Given the description of an element on the screen output the (x, y) to click on. 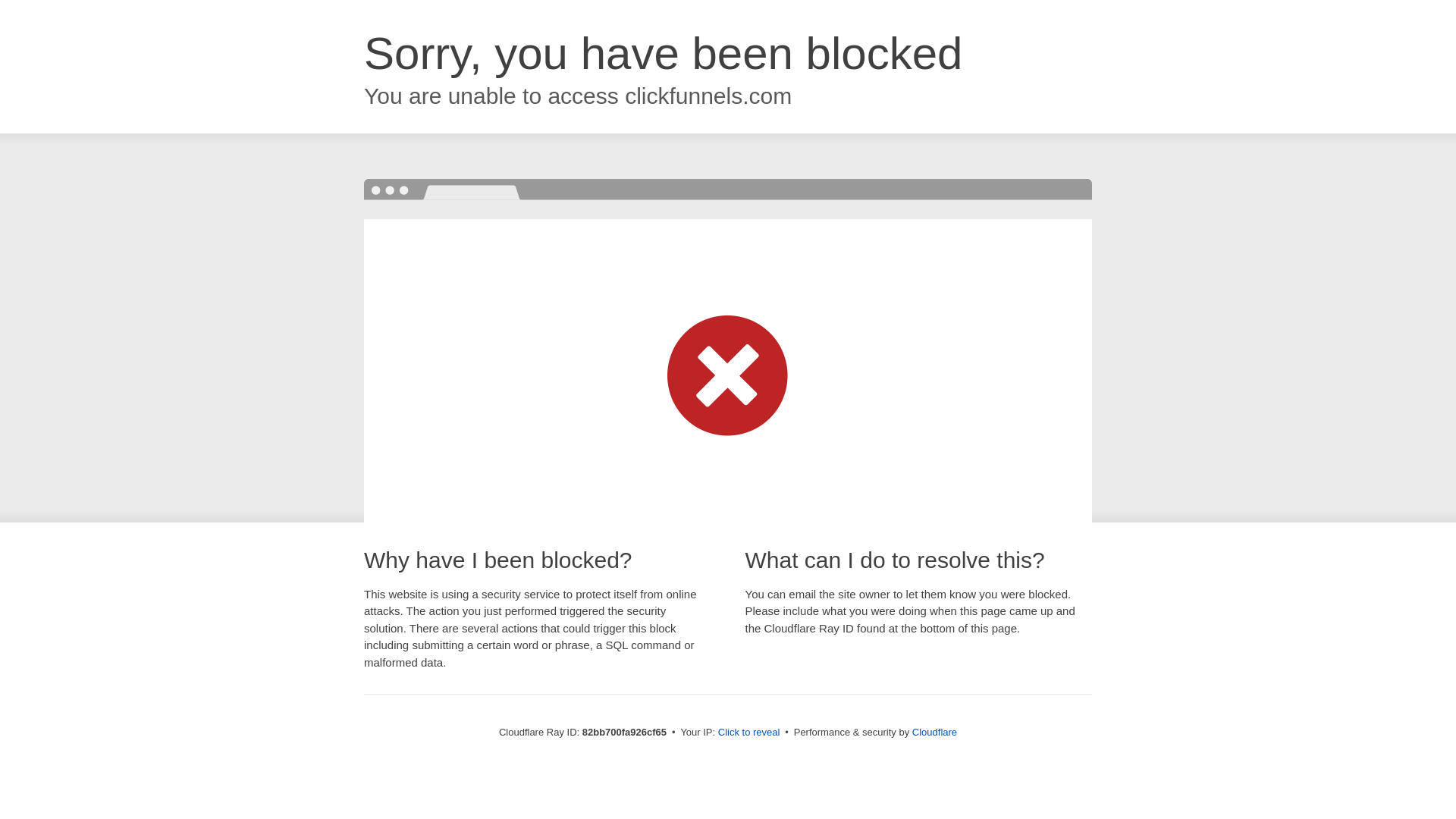
Click to reveal Element type: text (749, 732)
Cloudflare Element type: text (934, 731)
